Given the description of an element on the screen output the (x, y) to click on. 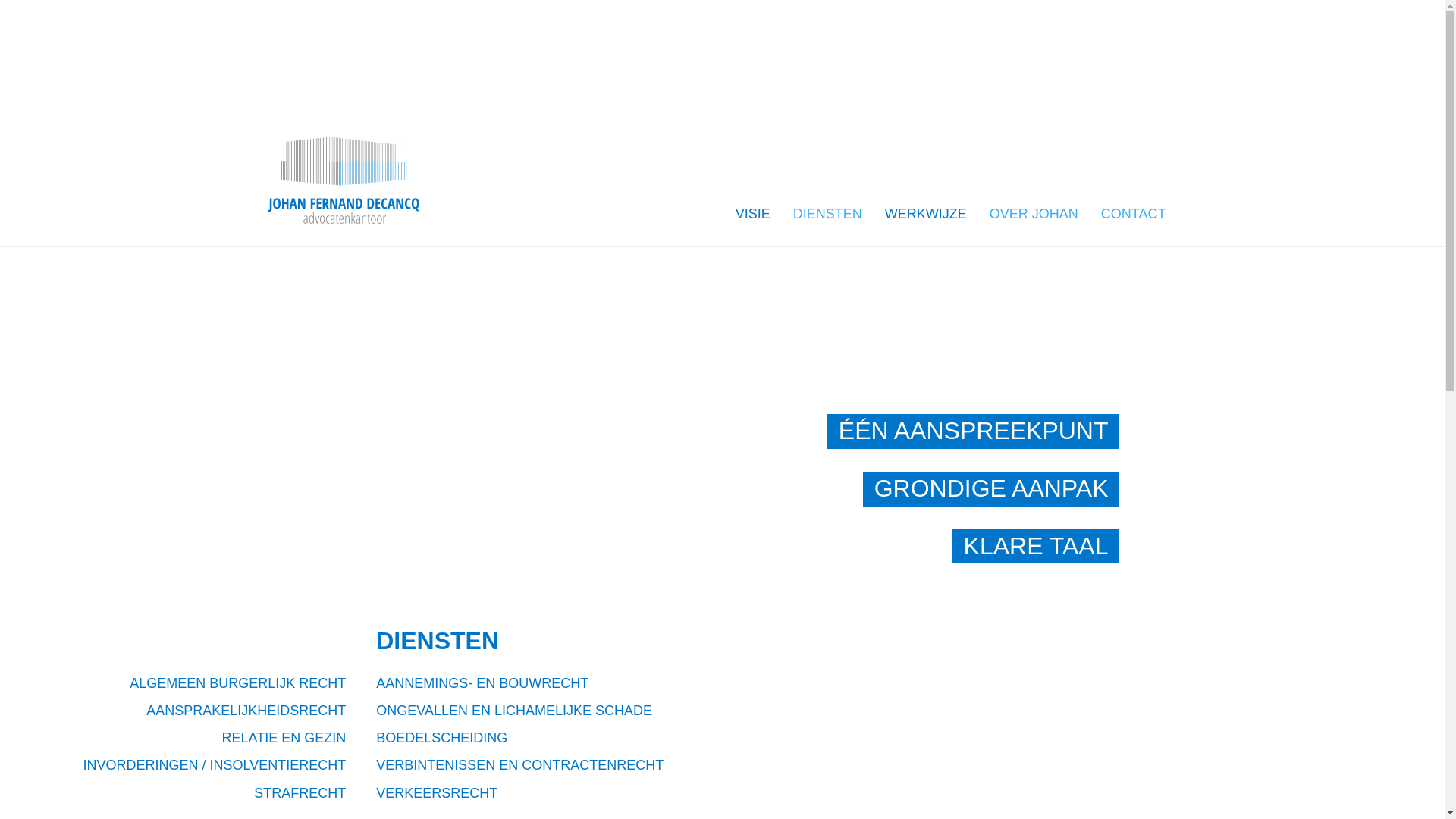
VERBINTENISSEN EN CONTRACTENRECHT Element type: text (519, 764)
INVORDERINGEN / INSOLVENTIERECHT Element type: text (214, 764)
ONGEVALLEN EN LICHAMELIJKE SCHADE Element type: text (514, 710)
OVER JOHAN Element type: text (1033, 208)
CONTACT Element type: text (1133, 208)
AANSPRAKELIJKHEIDSRECHT Element type: text (245, 710)
STRAFRECHT Element type: text (299, 792)
WERKWIJZE Element type: text (925, 208)
DIENSTEN Element type: text (827, 208)
ALGEMEEN BURGERLIJK RECHT Element type: text (237, 682)
RELATIE EN GEZIN Element type: text (284, 737)
AANNEMINGS- EN BOUWRECHT Element type: text (482, 682)
BOEDELSCHEIDING Element type: text (441, 737)
VERKEERSRECHT Element type: text (436, 792)
VISIE Element type: text (752, 208)
